Given the description of an element on the screen output the (x, y) to click on. 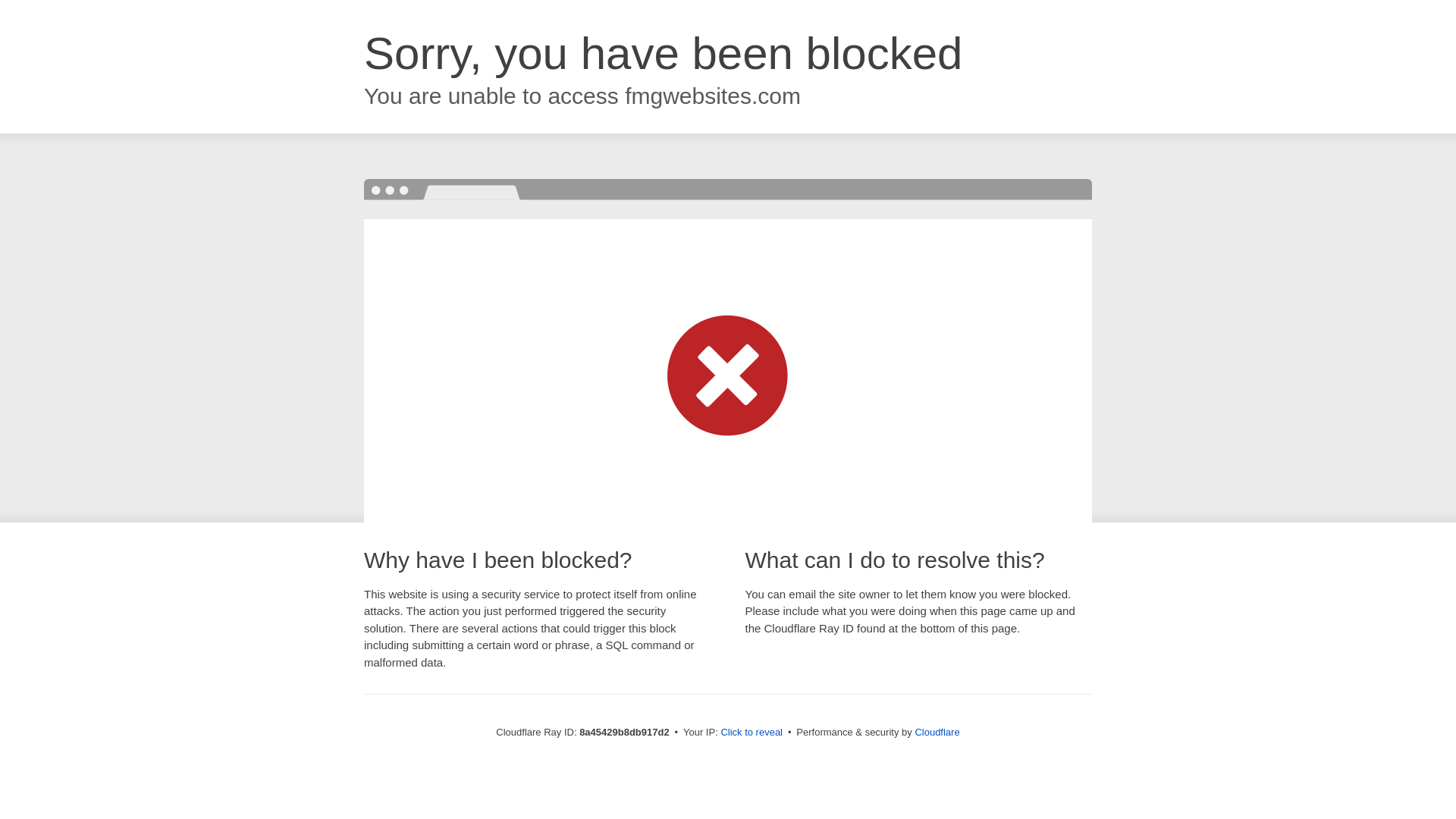
Cloudflare (936, 731)
Click to reveal (751, 732)
